Given the description of an element on the screen output the (x, y) to click on. 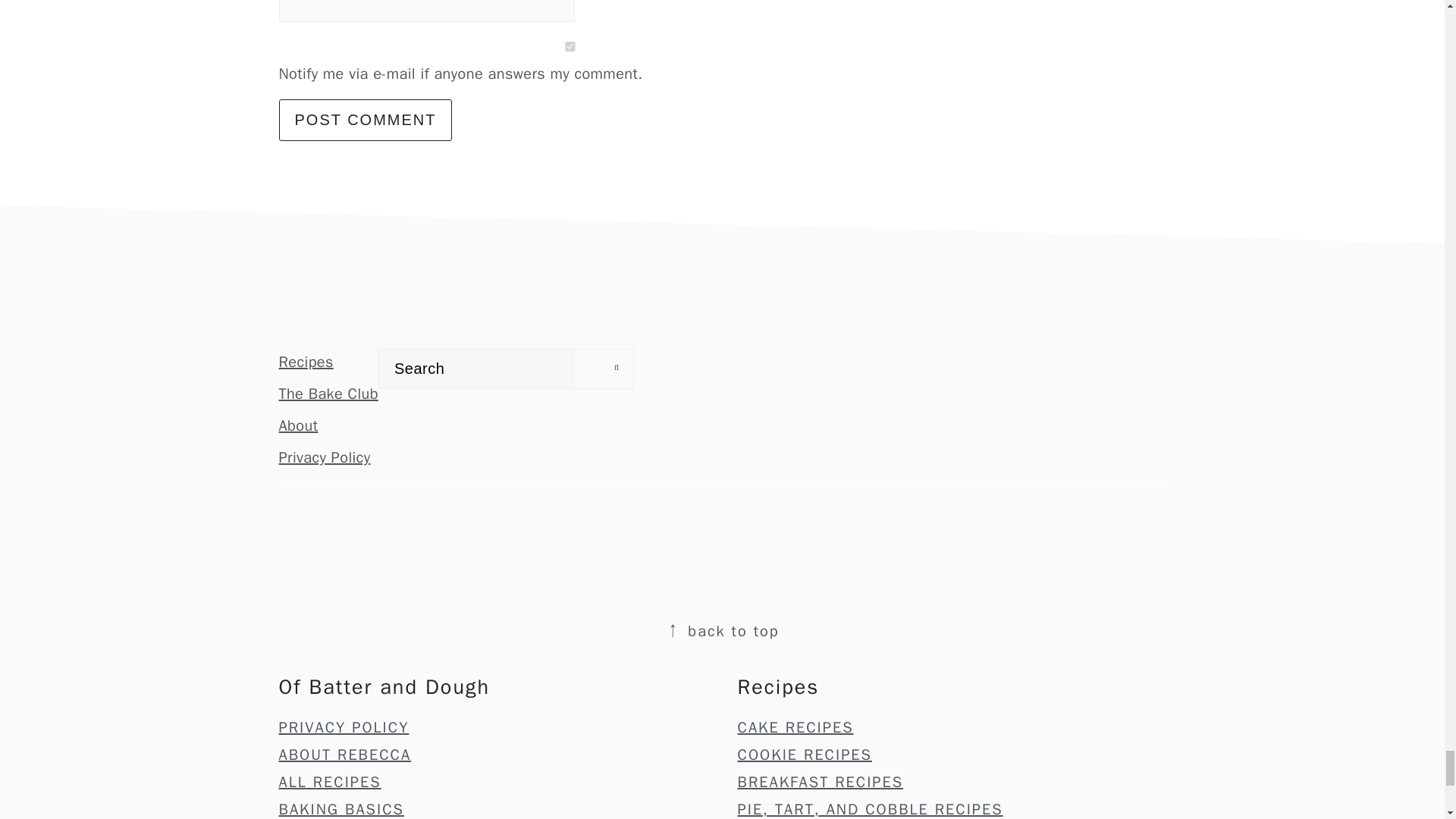
on (570, 46)
Post Comment (365, 119)
